Given the description of an element on the screen output the (x, y) to click on. 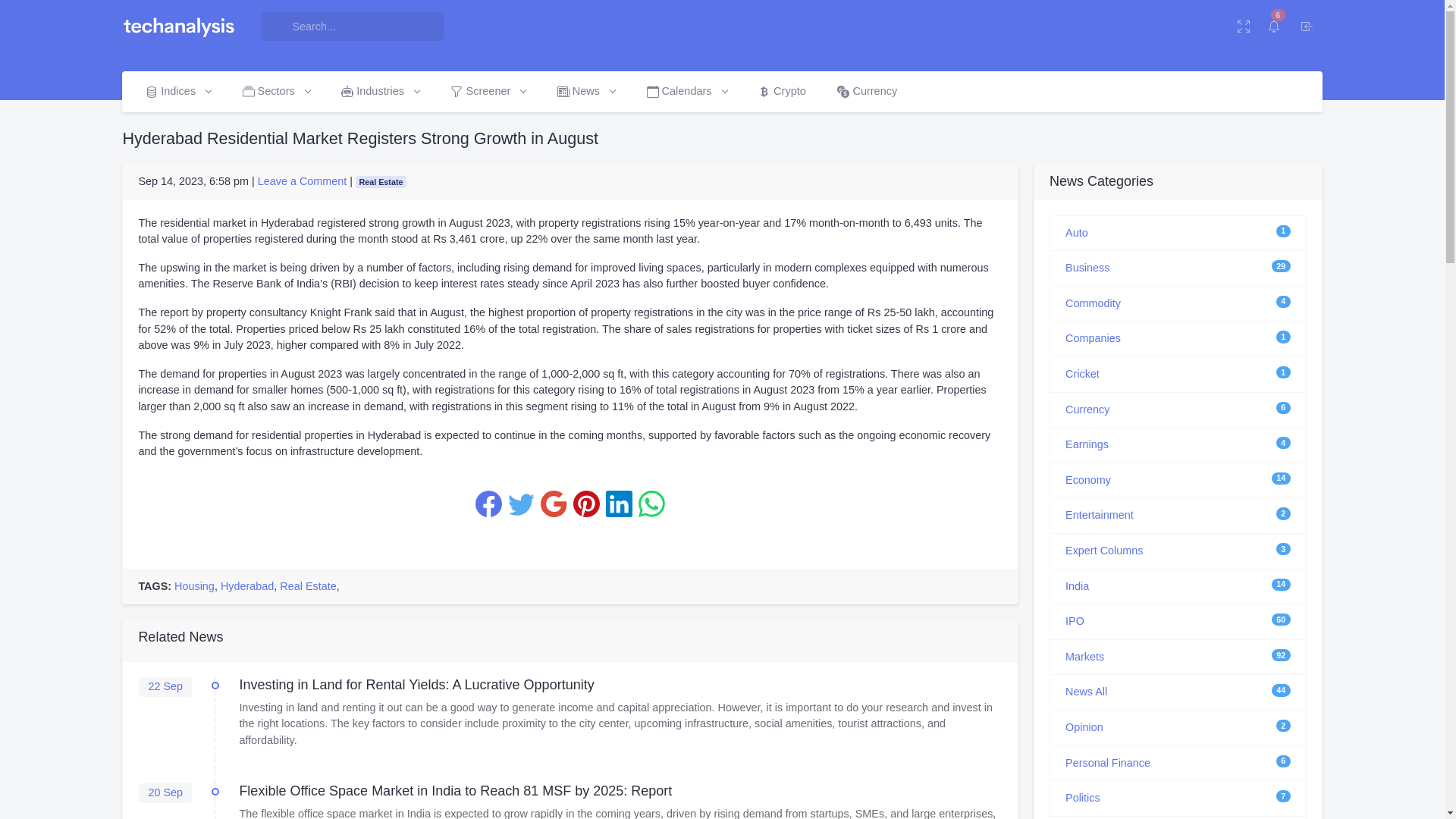
Earnings (1086, 444)
Economy (1087, 480)
Indices (177, 91)
Business (1087, 267)
Expert Columns (1103, 550)
News All (1085, 691)
Markets (1084, 656)
Commodity (1093, 303)
Companies (1093, 337)
IPO (1074, 621)
Opinion (1084, 727)
Entertainment (1099, 514)
Currency (1087, 409)
Cricket (1082, 373)
India (1077, 585)
